Given the description of an element on the screen output the (x, y) to click on. 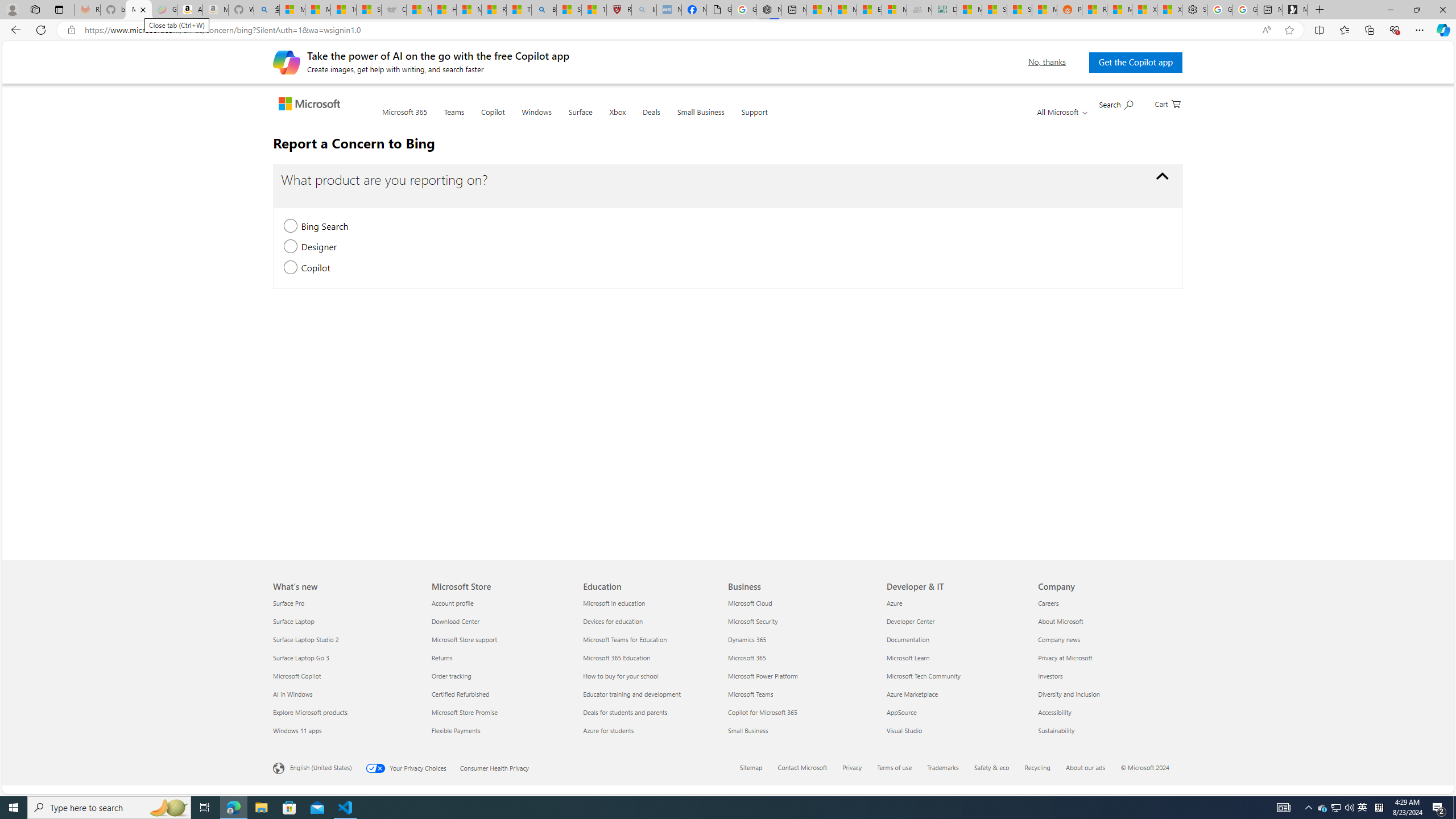
AppSource (955, 711)
Microsoft Power Platform Business (762, 675)
Microsoft Teams for Education Education (624, 638)
Azure for students Education (608, 729)
Azure Developer & IT (894, 602)
Recycling (1038, 766)
Safety & eco (998, 768)
AI in Windows What's new (293, 693)
AI in Windows (345, 693)
